Given the description of an element on the screen output the (x, y) to click on. 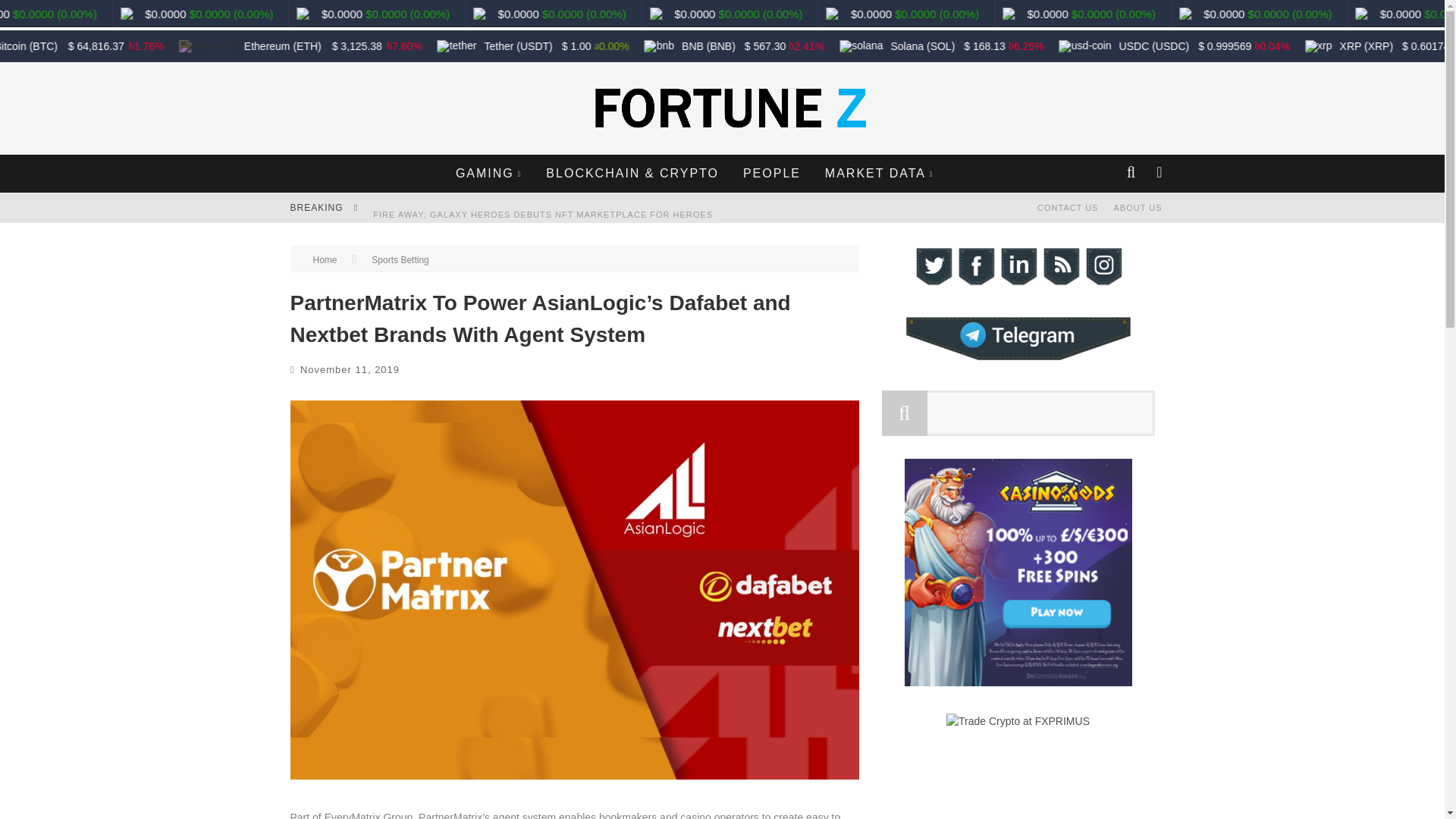
GAMING (489, 173)
Visit Us On Facebook (974, 283)
Visit Us On Twitter (932, 283)
Log In (721, 463)
Visit Us On Instagram (1102, 283)
Check Our Feed (1060, 283)
PEOPLE (772, 173)
View all posts in Sports Betting (399, 259)
Visit Us On Linkedin (1017, 283)
Fire Away: Galaxy Heroes Debuts NFT Marketplace for Heroes (542, 214)
